Given the description of an element on the screen output the (x, y) to click on. 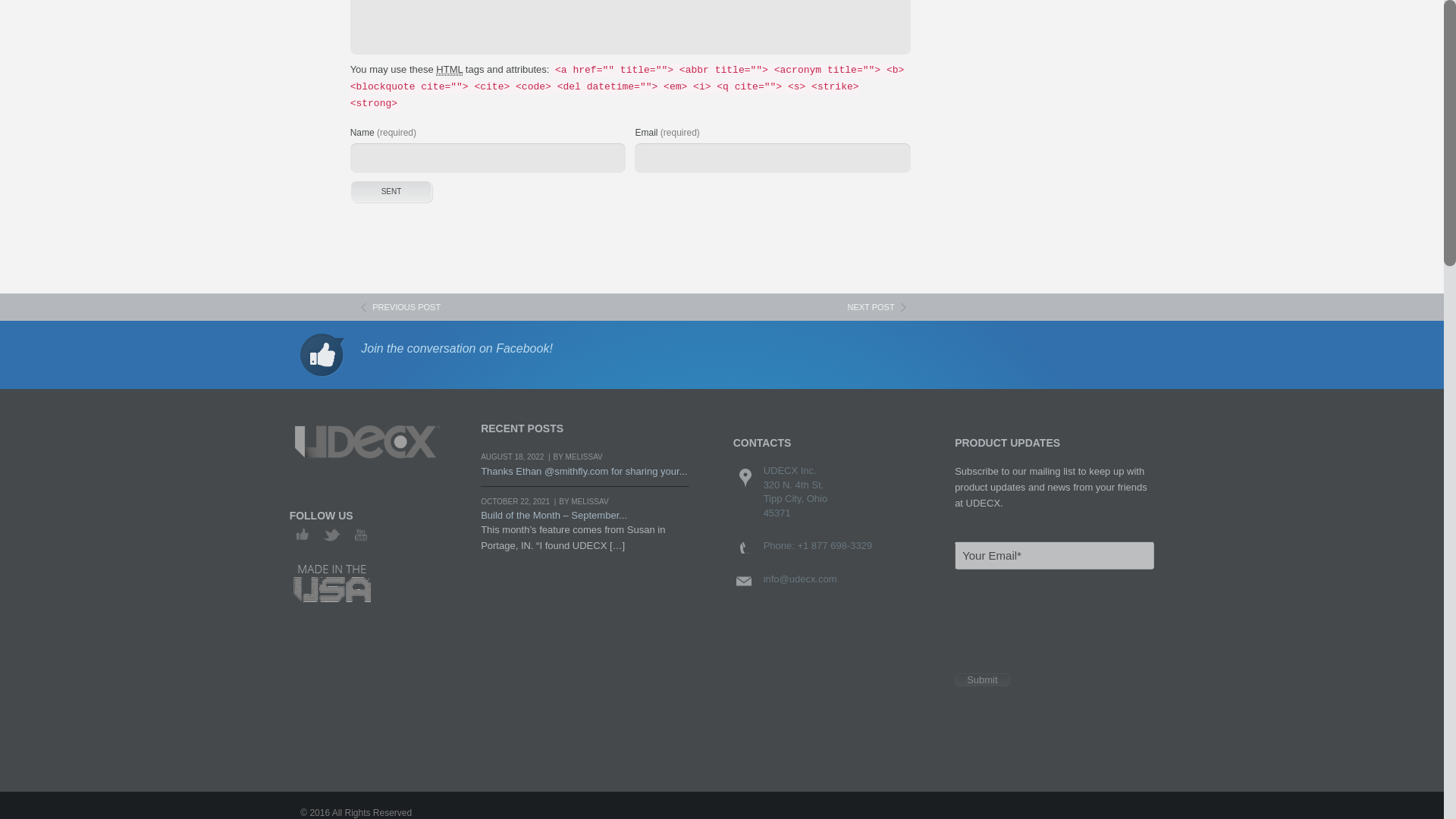
SENT (391, 191)
